Given the description of an element on the screen output the (x, y) to click on. 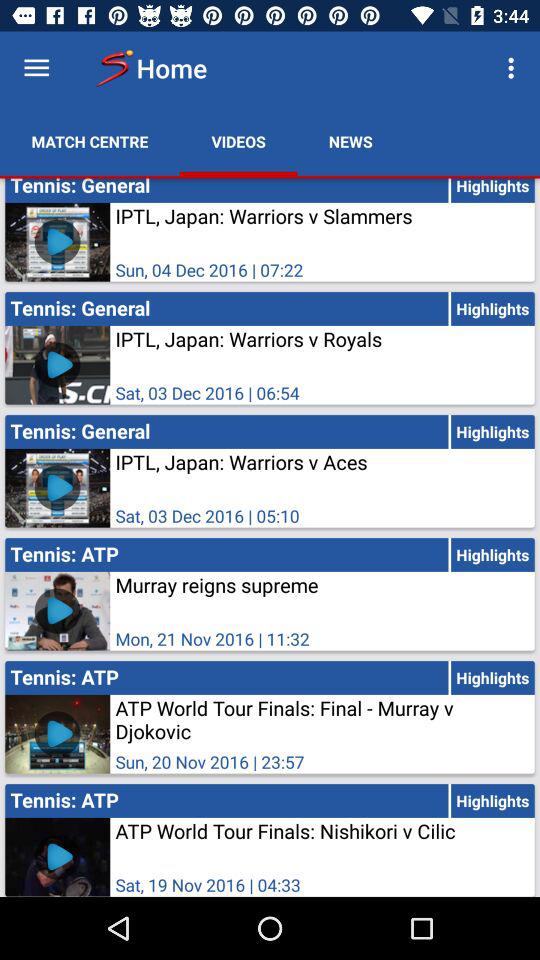
search for (36, 68)
